Given the description of an element on the screen output the (x, y) to click on. 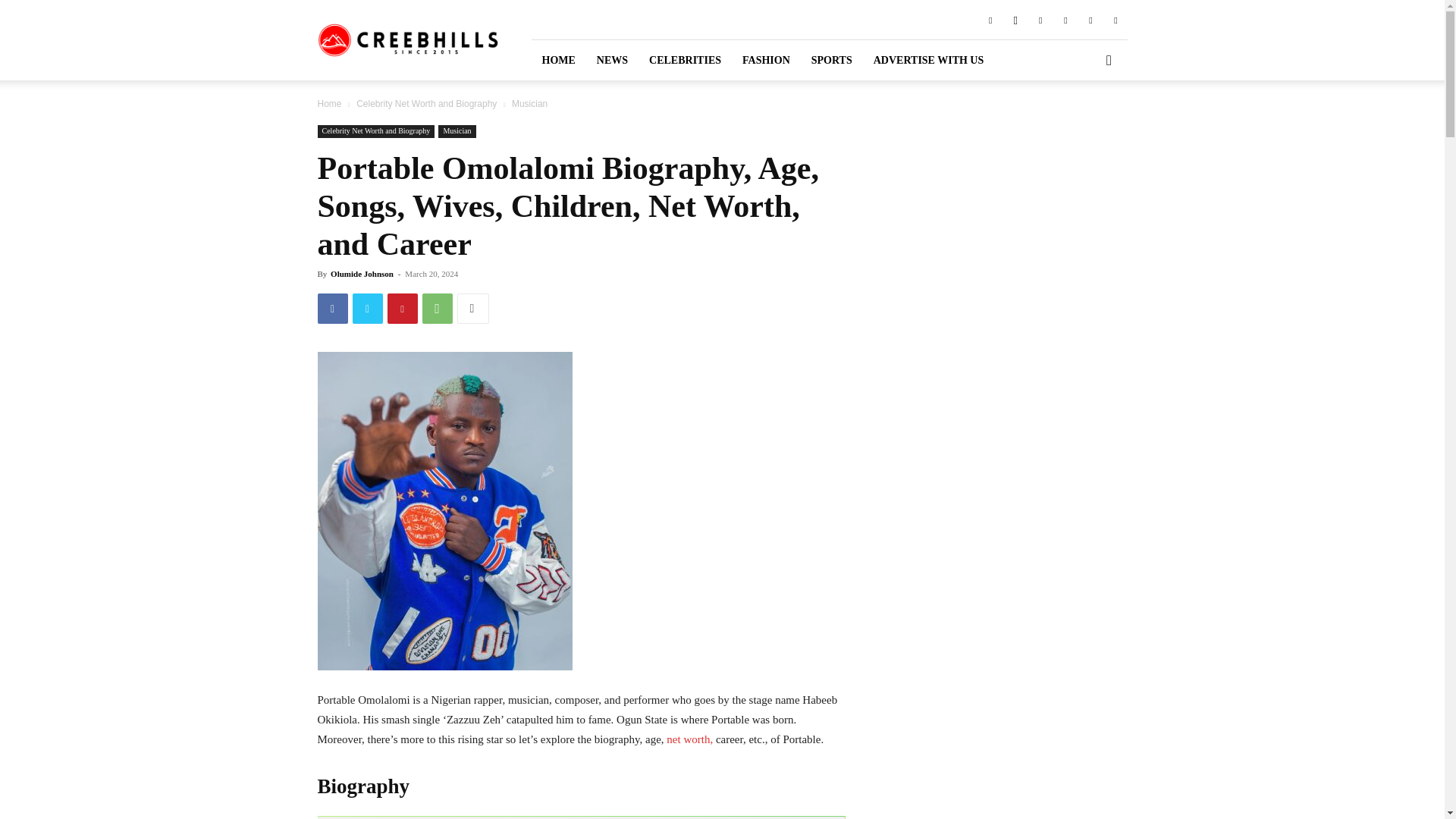
Youtube (1114, 19)
Twitter (366, 308)
Olumide Johnson (361, 273)
Musician (457, 131)
Home (328, 103)
HOME (558, 60)
ADVERTISE WITH US (928, 60)
NEWS (612, 60)
View all posts in Celebrity Net Worth and Biography (426, 103)
Instagram (1015, 19)
